Given the description of an element on the screen output the (x, y) to click on. 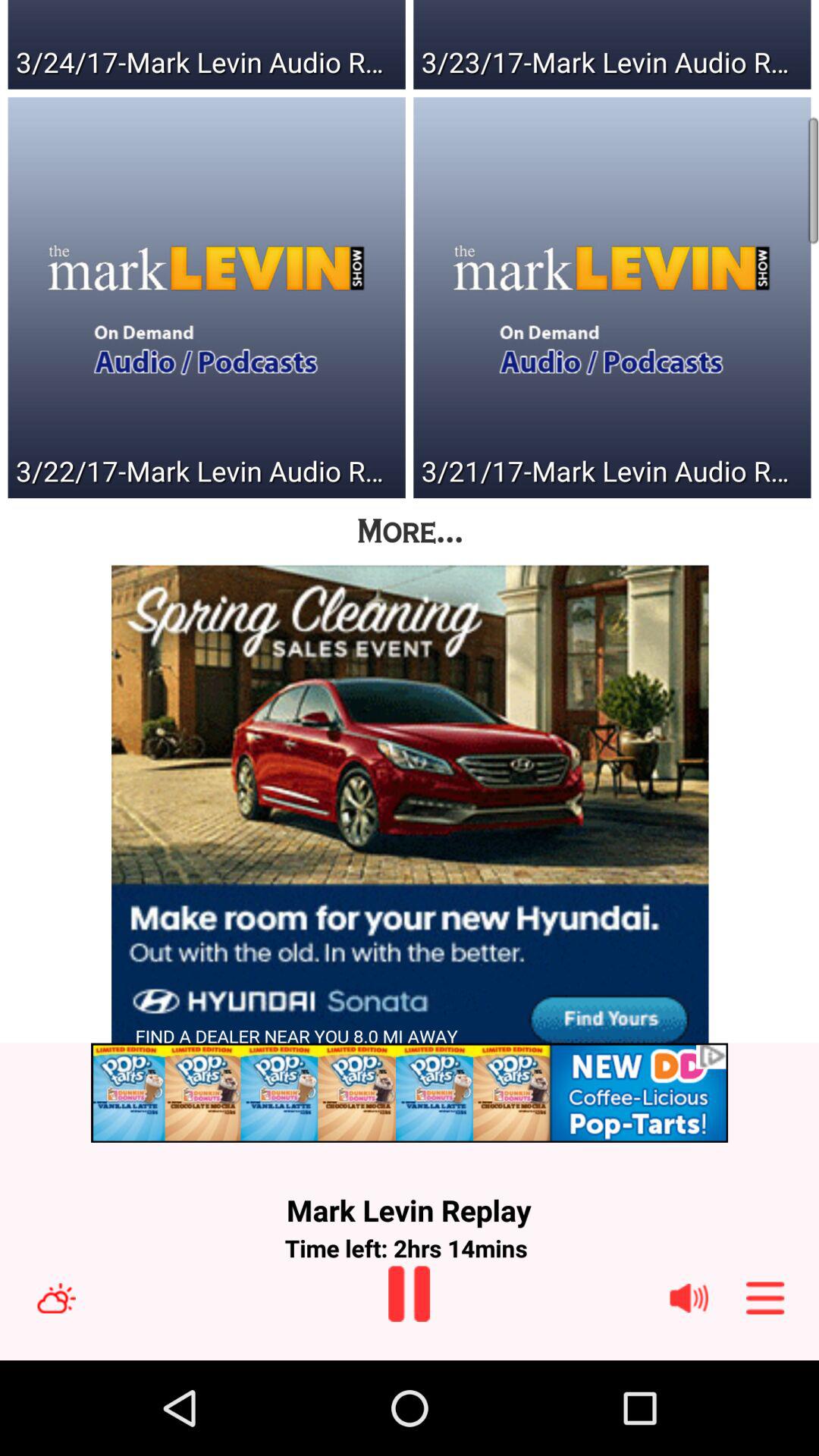
go back (408, 1293)
